Given the description of an element on the screen output the (x, y) to click on. 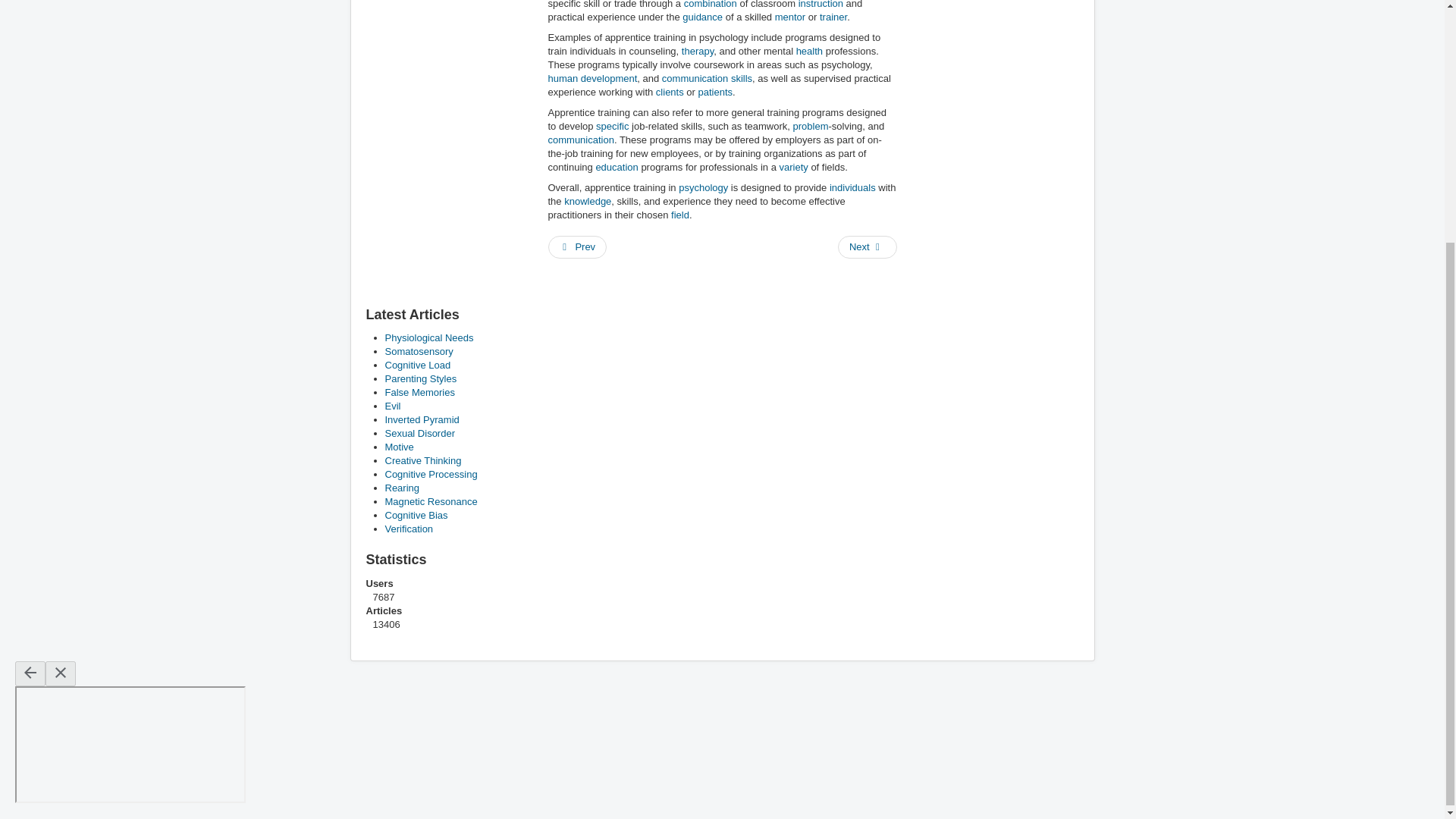
Evil (393, 405)
Physiological Needs (429, 337)
False Memories (419, 392)
Cognitive Load (418, 365)
